Given the description of an element on the screen output the (x, y) to click on. 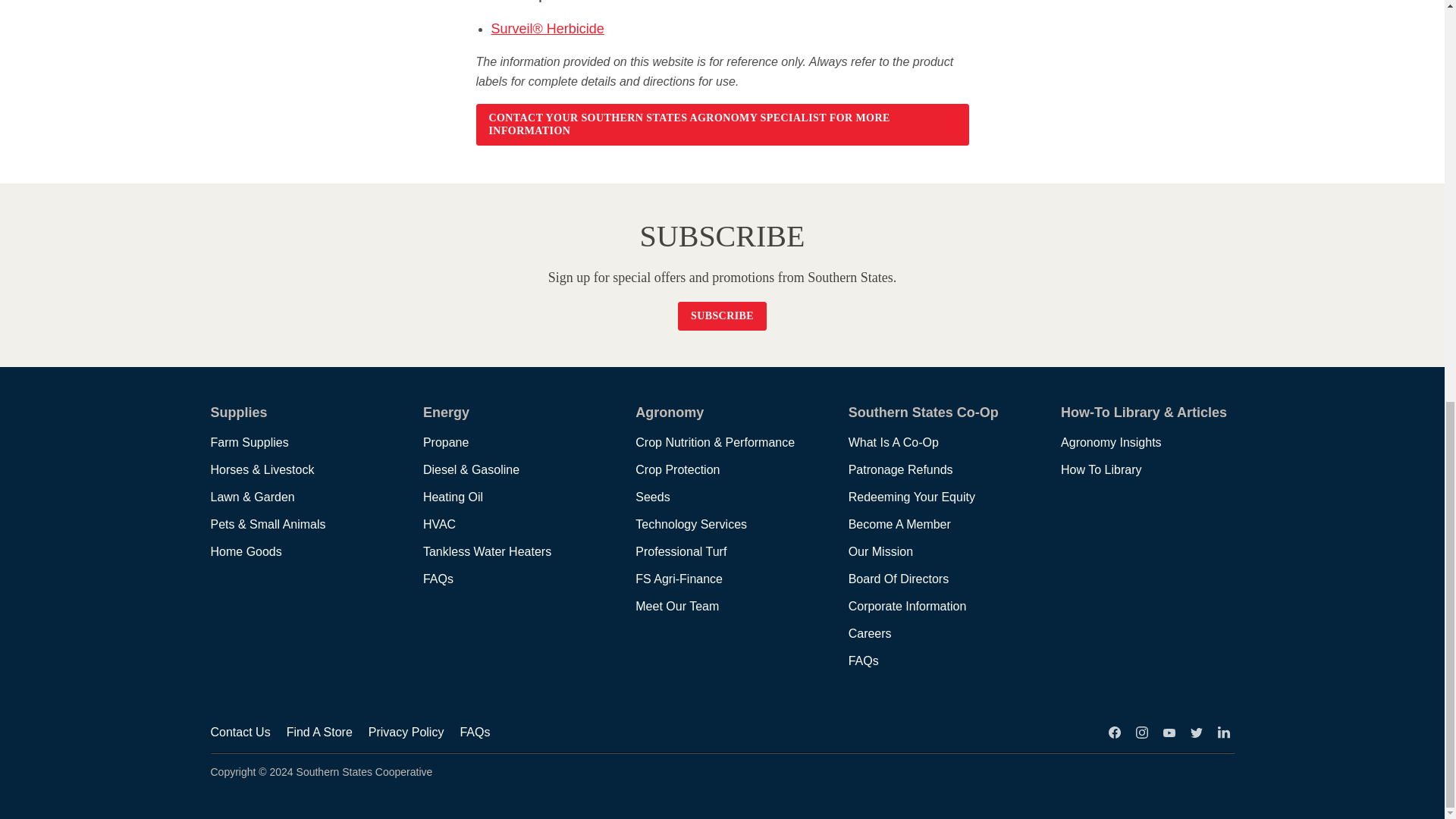
Twitter (1196, 731)
LinkedIn (1223, 731)
Facebook (1114, 731)
YouTube (1168, 731)
Instagram (1142, 731)
